Given the description of an element on the screen output the (x, y) to click on. 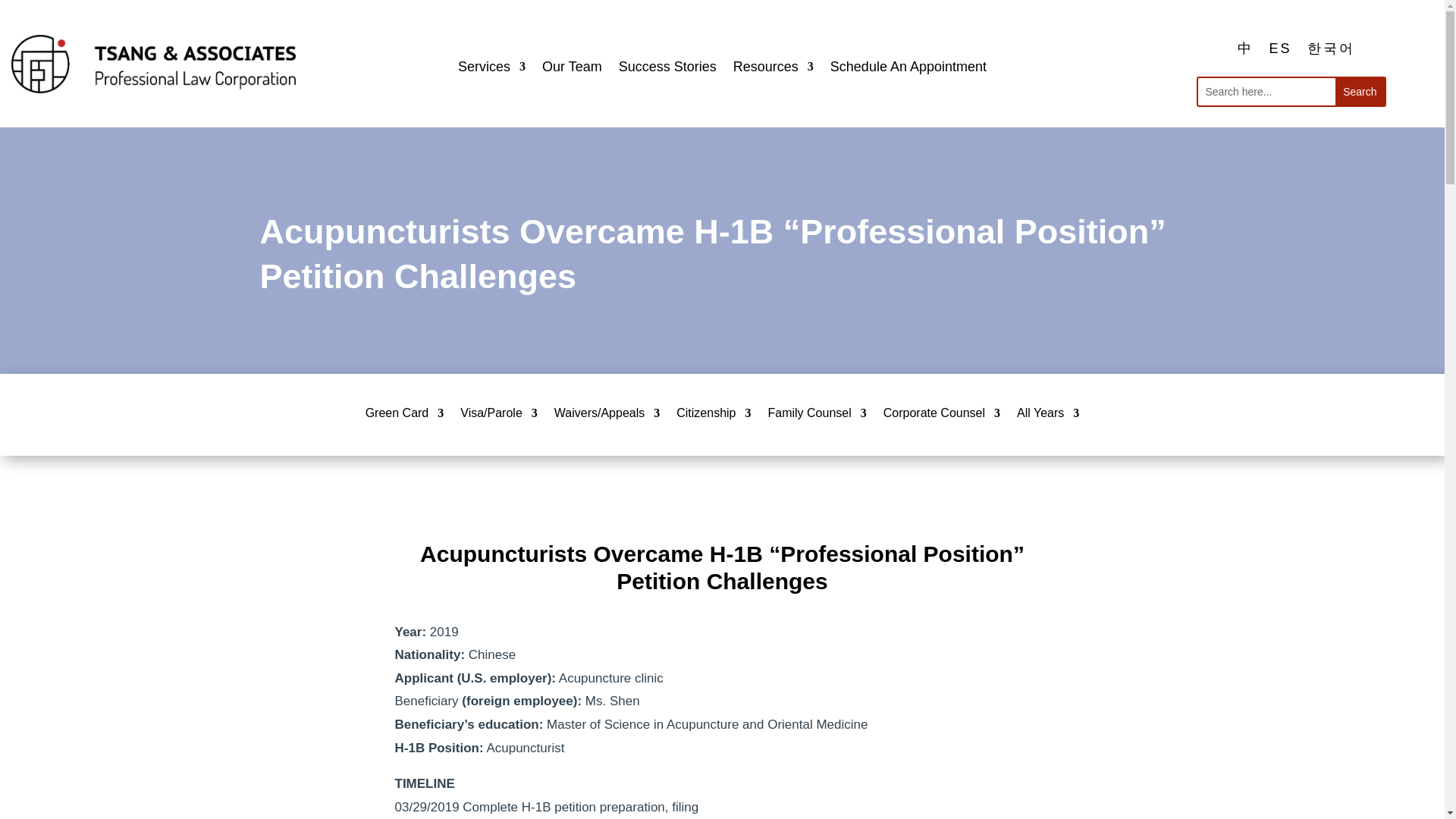
Schedule An Appointment (908, 69)
Green Card (404, 416)
Our Team (571, 69)
Search (1359, 91)
Search (1359, 91)
Services (491, 69)
Success Stories (667, 69)
Resources (773, 69)
ES (1279, 47)
Search (1359, 91)
